Given the description of an element on the screen output the (x, y) to click on. 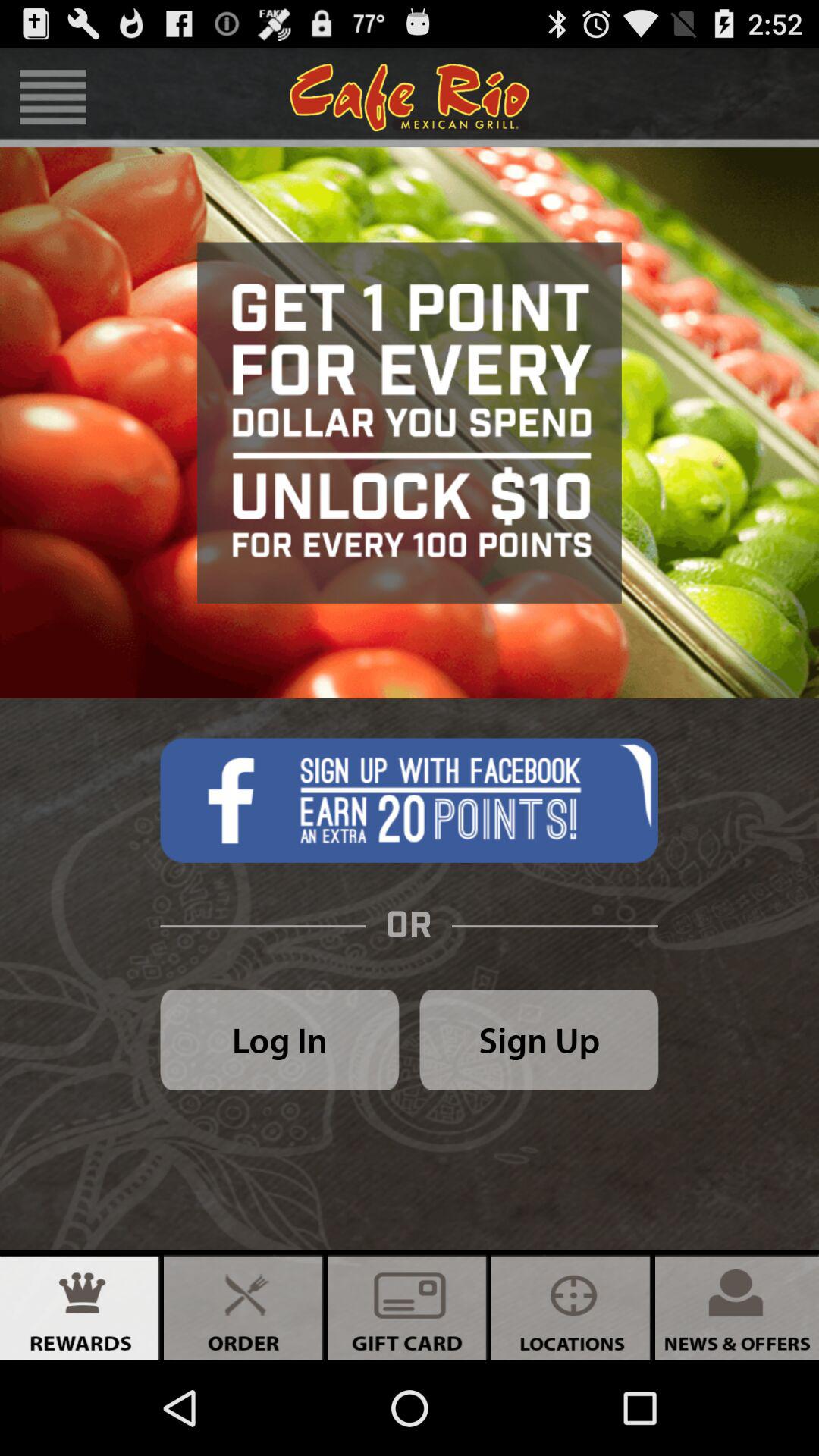
facebook advertisement (409, 800)
